Given the description of an element on the screen output the (x, y) to click on. 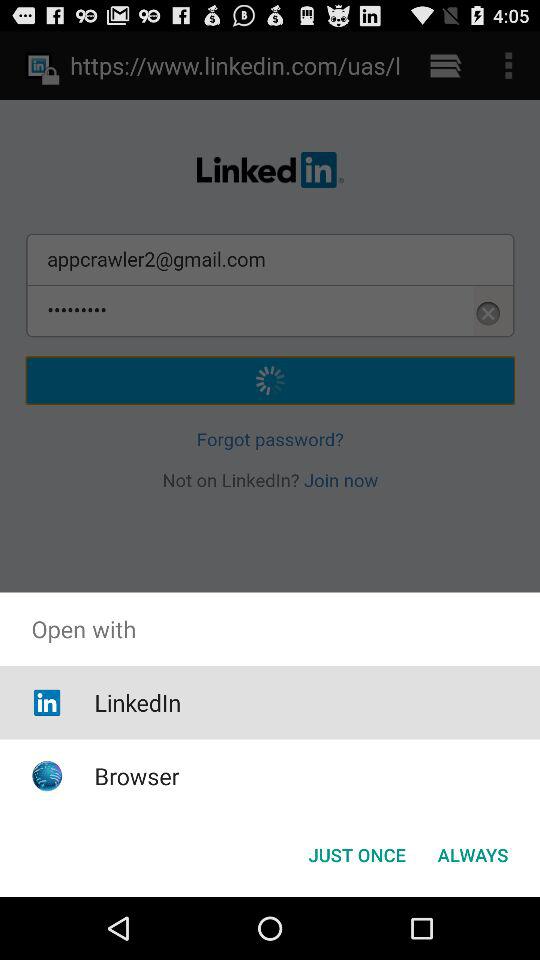
choose item at the bottom (356, 854)
